Given the description of an element on the screen output the (x, y) to click on. 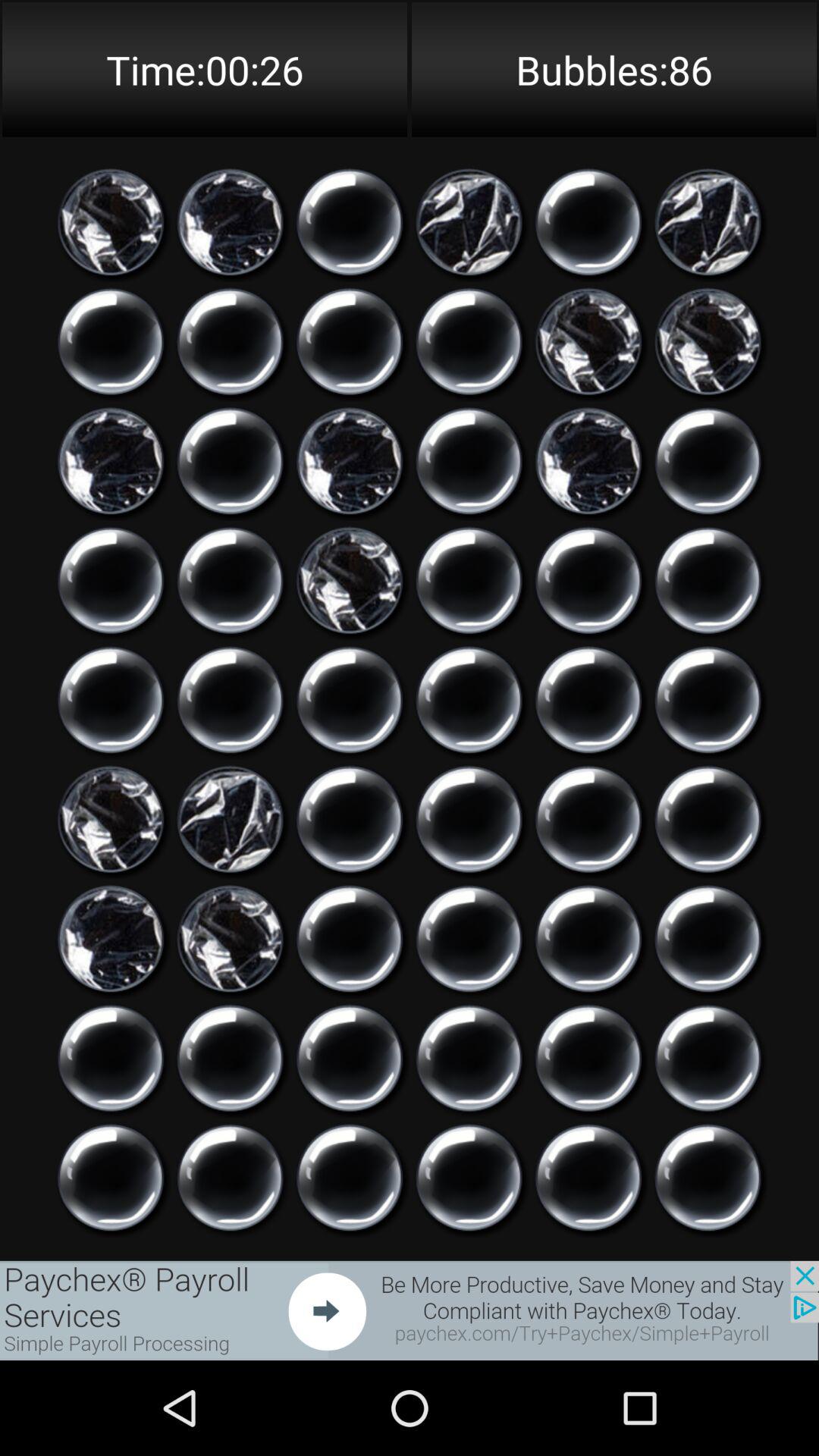
stress reliever bursting bubble (349, 341)
